Given the description of an element on the screen output the (x, y) to click on. 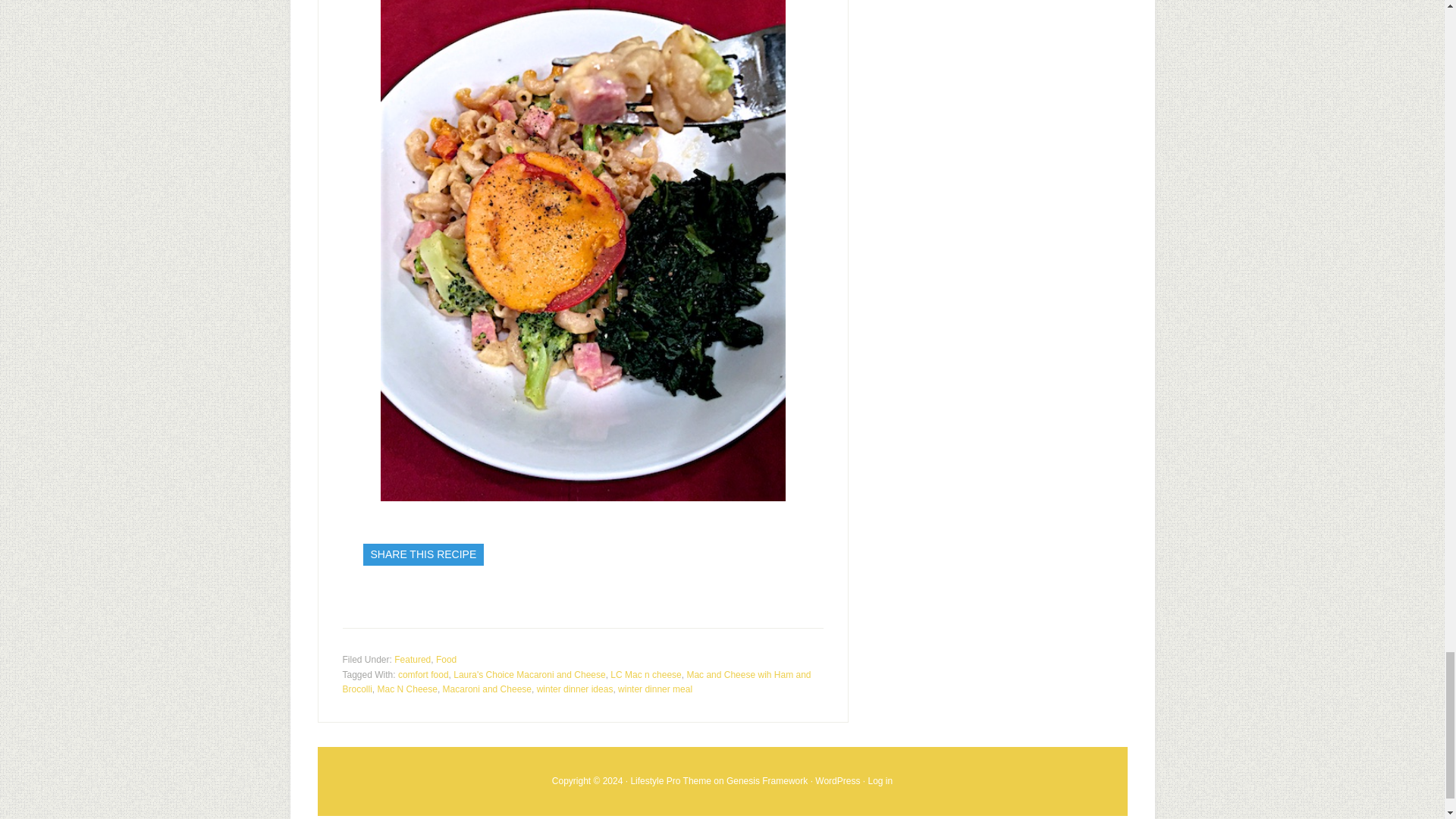
Laura's Choice Macaroni and Cheese (528, 674)
Featured (412, 659)
Food (446, 659)
comfort food (422, 674)
